Given the description of an element on the screen output the (x, y) to click on. 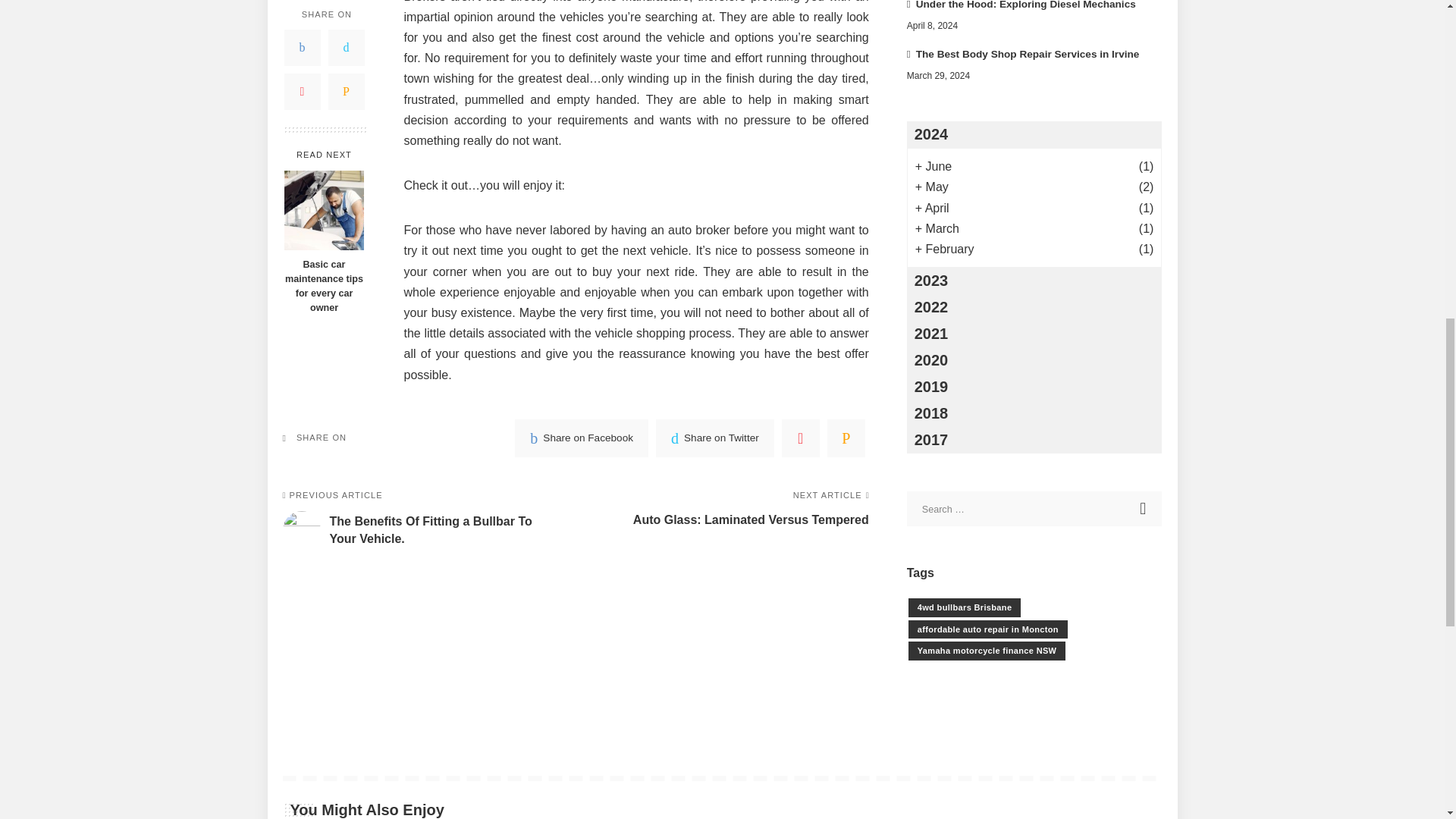
Search (1143, 508)
Search (1143, 508)
